Given the description of an element on the screen output the (x, y) to click on. 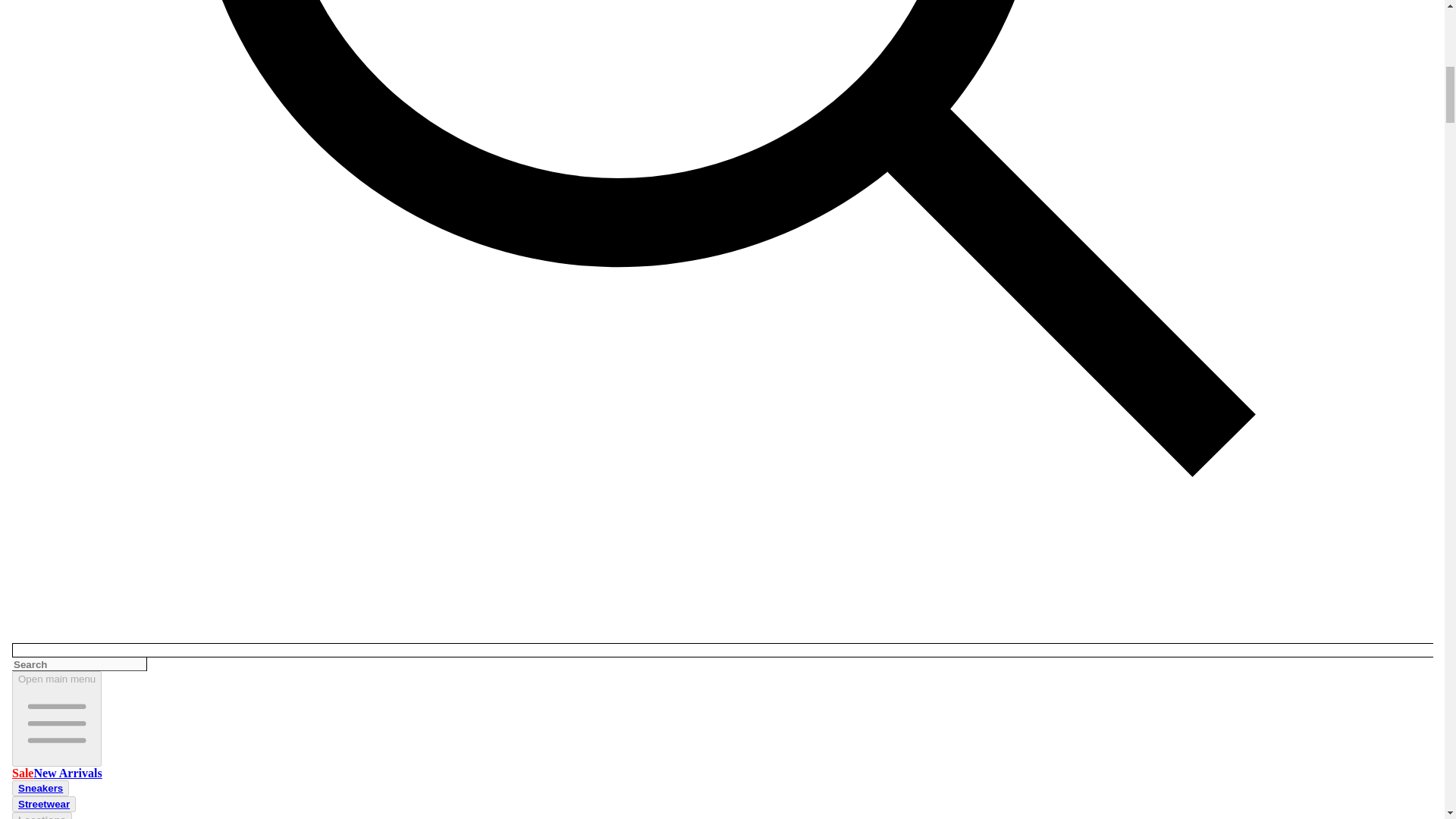
Sale (22, 772)
Sneakers (39, 788)
Sneakers (39, 787)
New Arrivals (67, 772)
Open main menu (56, 718)
Streetwear (43, 803)
Locations (41, 815)
Streetwear (43, 804)
